Given the description of an element on the screen output the (x, y) to click on. 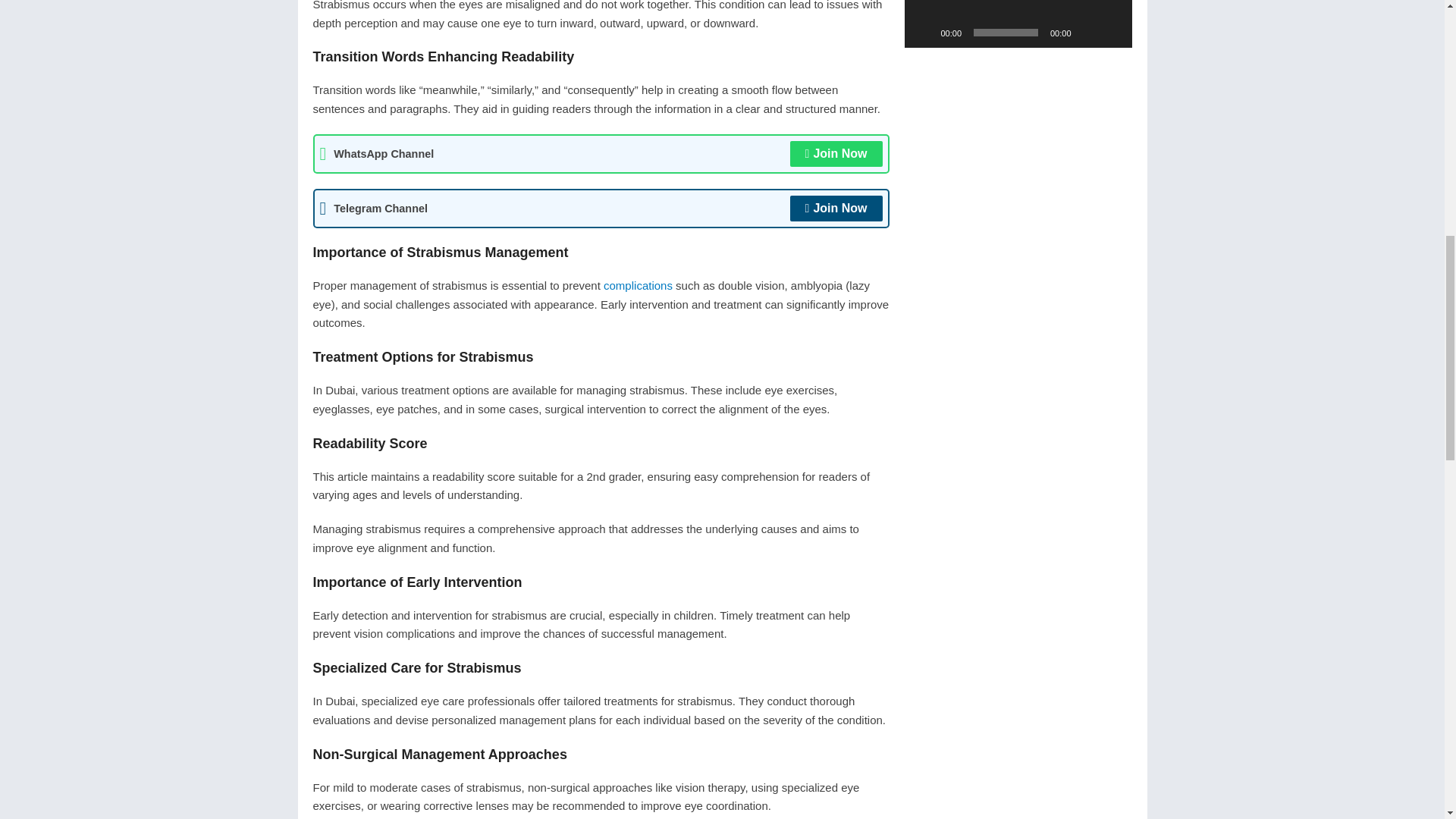
Join Now (836, 153)
Join Now (836, 208)
complications (638, 285)
